Given the description of an element on the screen output the (x, y) to click on. 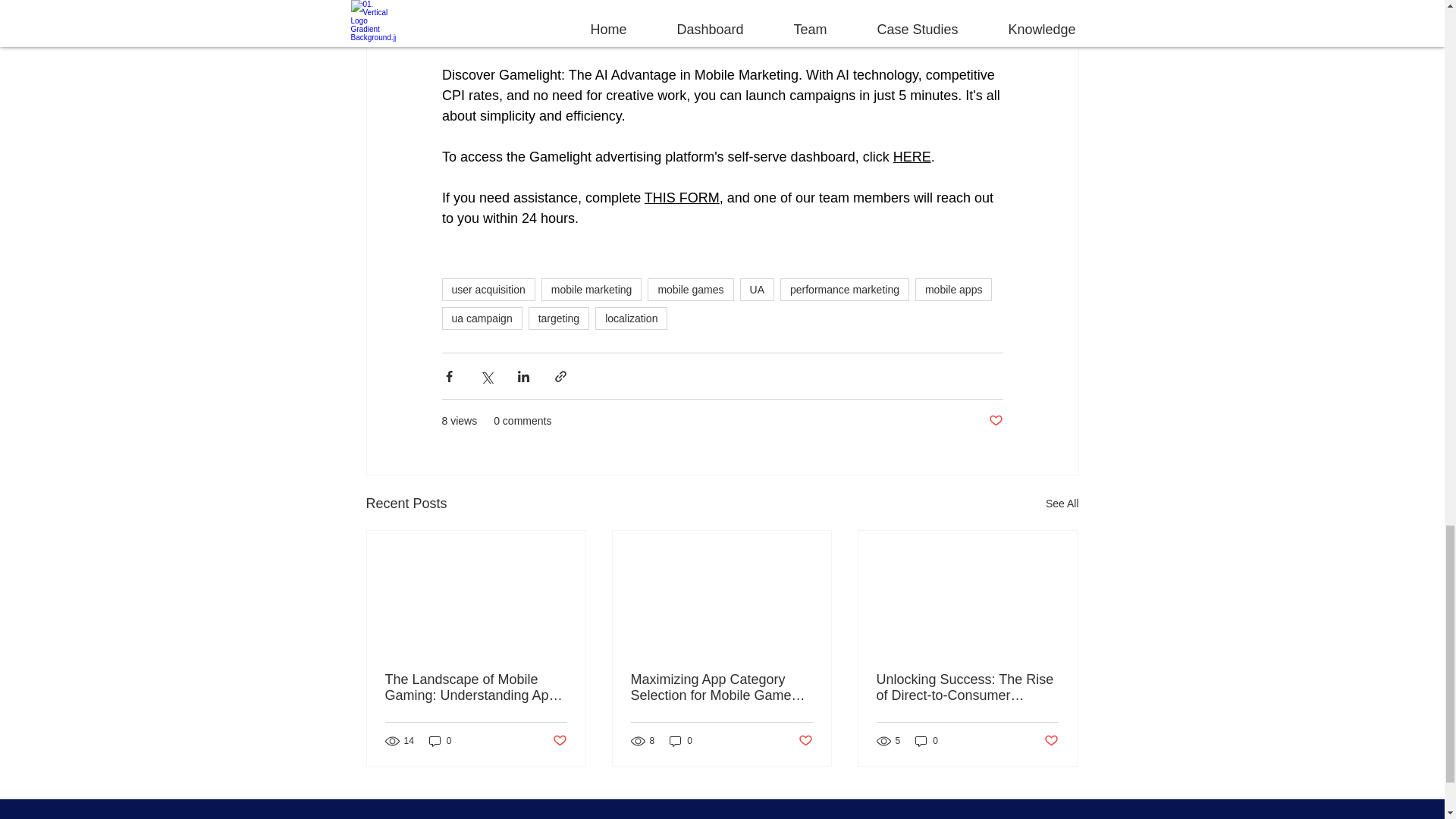
0 (681, 740)
Post not marked as liked (804, 740)
Post not marked as liked (558, 740)
Maximizing App Category Selection for Mobile Game Success (721, 687)
mobile marketing (591, 289)
localization (630, 318)
targeting (558, 318)
0 (440, 740)
ua campaign (481, 318)
